Given the description of an element on the screen output the (x, y) to click on. 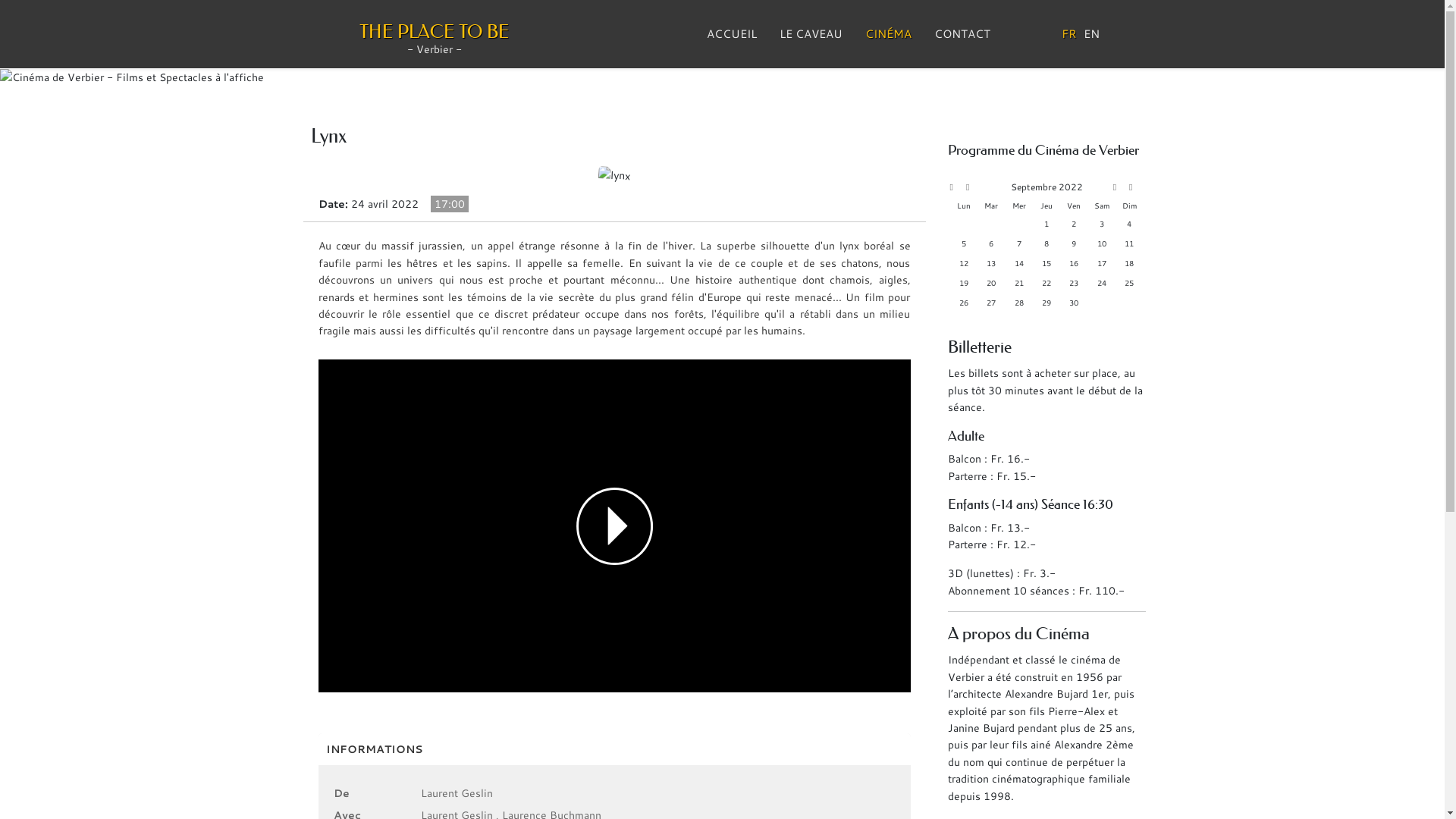
FR Element type: text (1068, 34)
THE PLACE TO BE Element type: text (433, 31)
LE CAVEAU Element type: text (810, 34)
EN Element type: text (1091, 34)
ACCUEIL Element type: text (730, 34)
CONTACT Element type: text (961, 34)
